Given the description of an element on the screen output the (x, y) to click on. 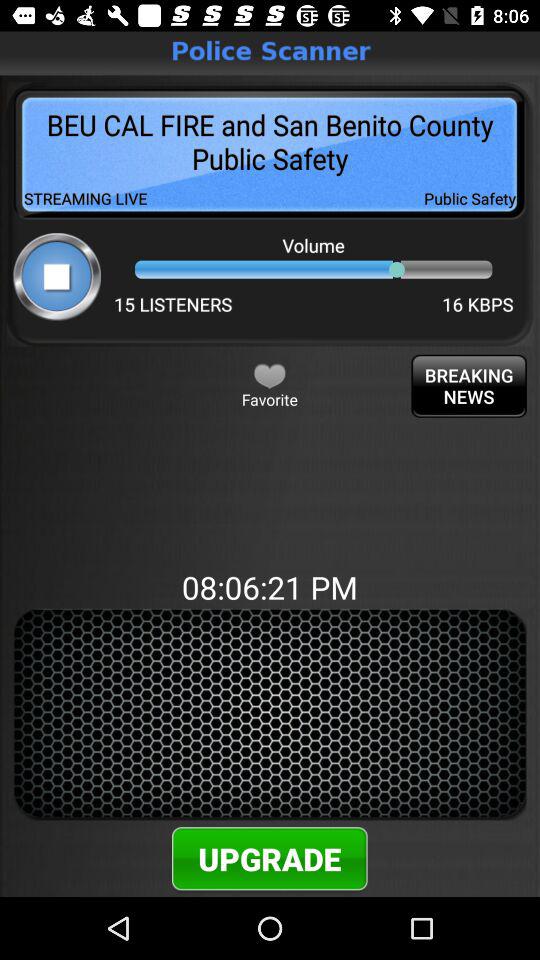
make channel a favorite (269, 375)
